Given the description of an element on the screen output the (x, y) to click on. 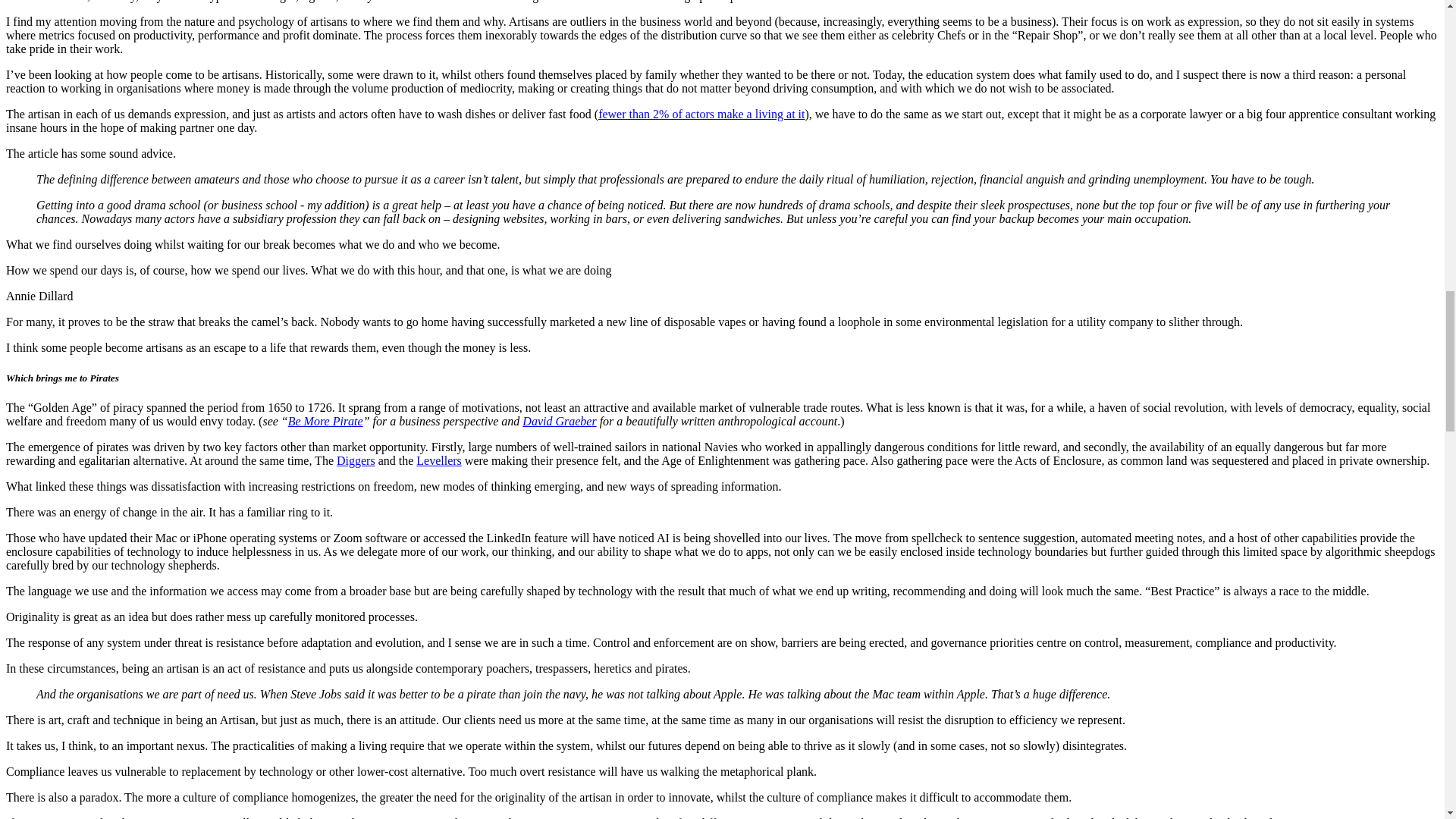
Diggers (355, 460)
Be More Pirate (325, 420)
Levellers (438, 460)
David Graeber (558, 420)
